Given the description of an element on the screen output the (x, y) to click on. 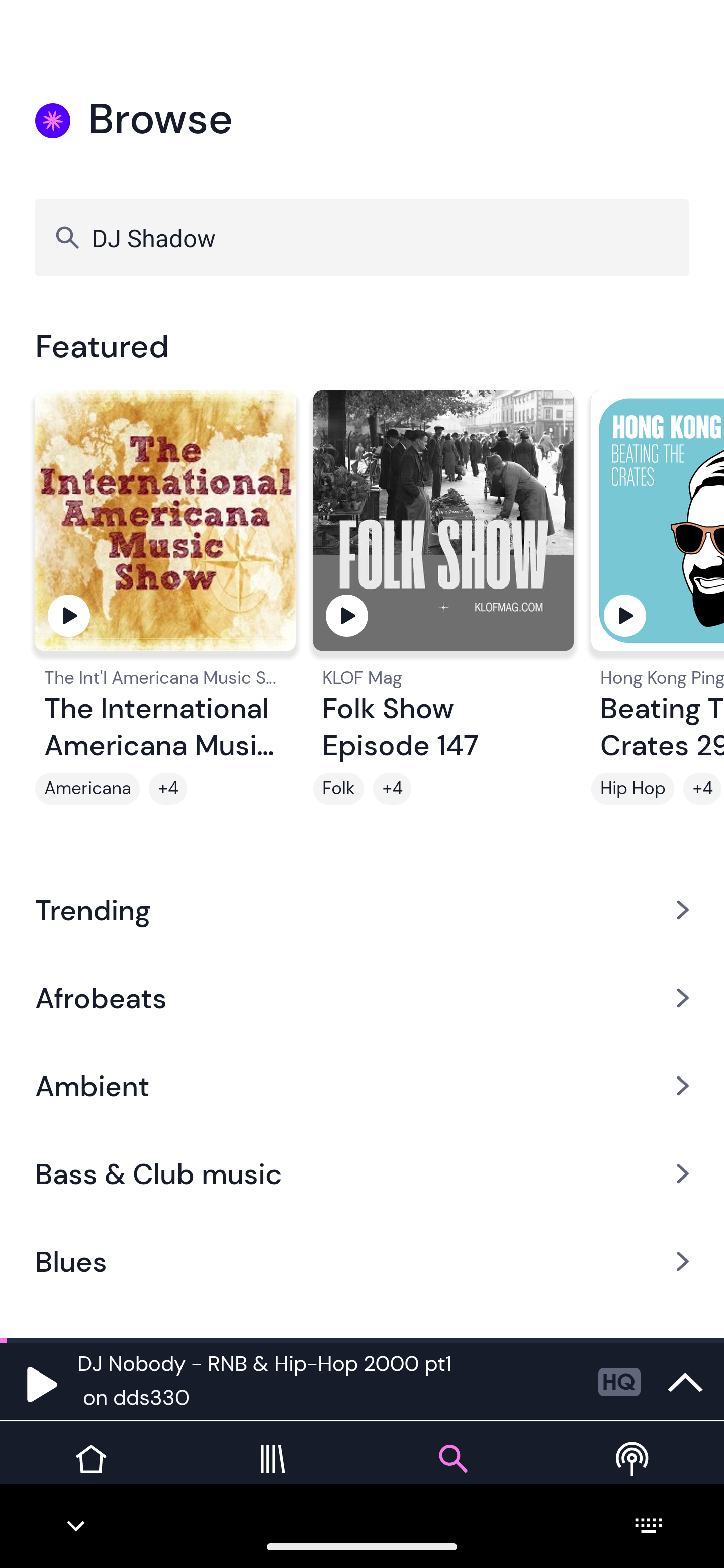
DJ Shadow (361, 237)
Americana (87, 788)
Folk (338, 788)
Hip Hop (632, 788)
Trending (361, 909)
Afrobeats (361, 997)
Ambient (361, 1085)
Bass & Club music (361, 1174)
Blues (361, 1262)
Home tab (90, 1473)
Library tab (271, 1473)
Browse tab (452, 1473)
Live tab (633, 1473)
